Given the description of an element on the screen output the (x, y) to click on. 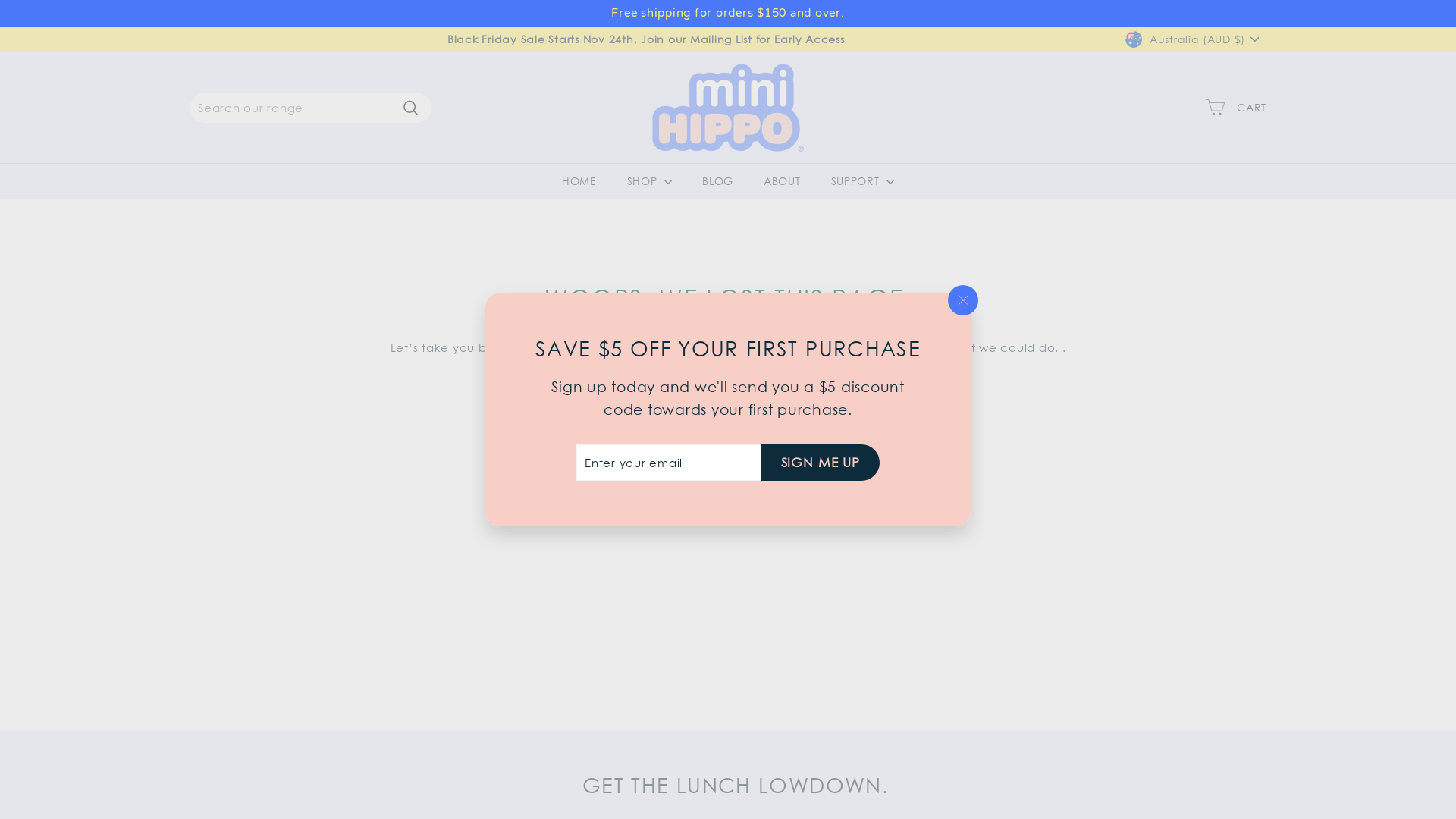
HOME Element type: text (727, 372)
ABOUT Element type: text (781, 180)
HOME Element type: text (578, 180)
Australia (AUD $) Element type: text (1195, 38)
SIGN ME UP Element type: text (820, 462)
BLOG Element type: text (717, 180)
Mailing List Element type: text (721, 38)
CART Element type: text (1235, 106)
"Close (esc)" Element type: text (962, 300)
